Given the description of an element on the screen output the (x, y) to click on. 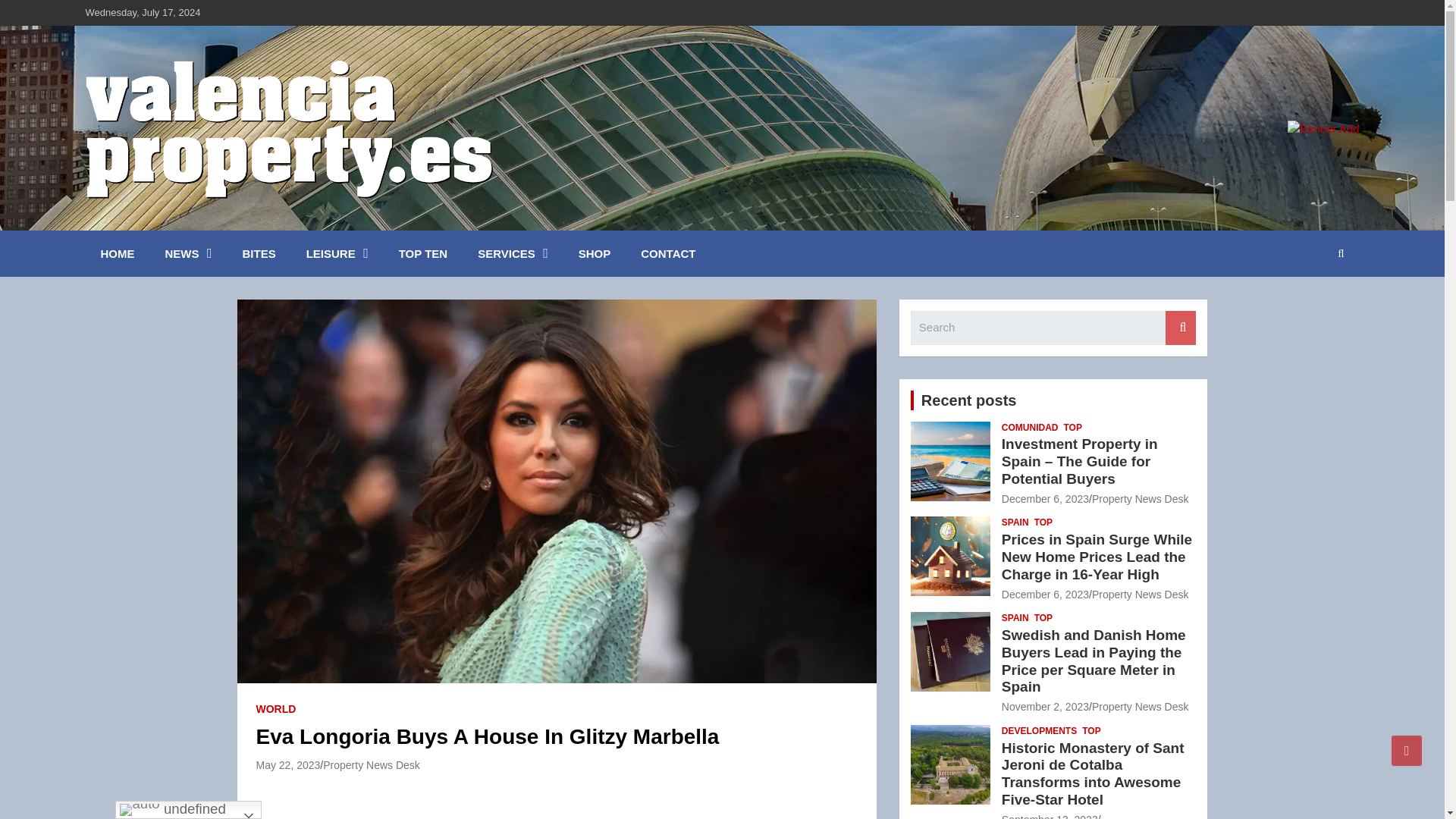
SERVICES (513, 253)
CONTACT (668, 253)
TOP TEN (423, 253)
LEISURE (337, 253)
BITES (259, 253)
HOME (116, 253)
Property News Desk (371, 765)
NEWS (188, 253)
Recent posts (968, 400)
May 22, 2023 (288, 765)
WORLD (276, 709)
SHOP (594, 253)
Eva Longoria Buys A House In Glitzy Marbella (288, 765)
